Given the description of an element on the screen output the (x, y) to click on. 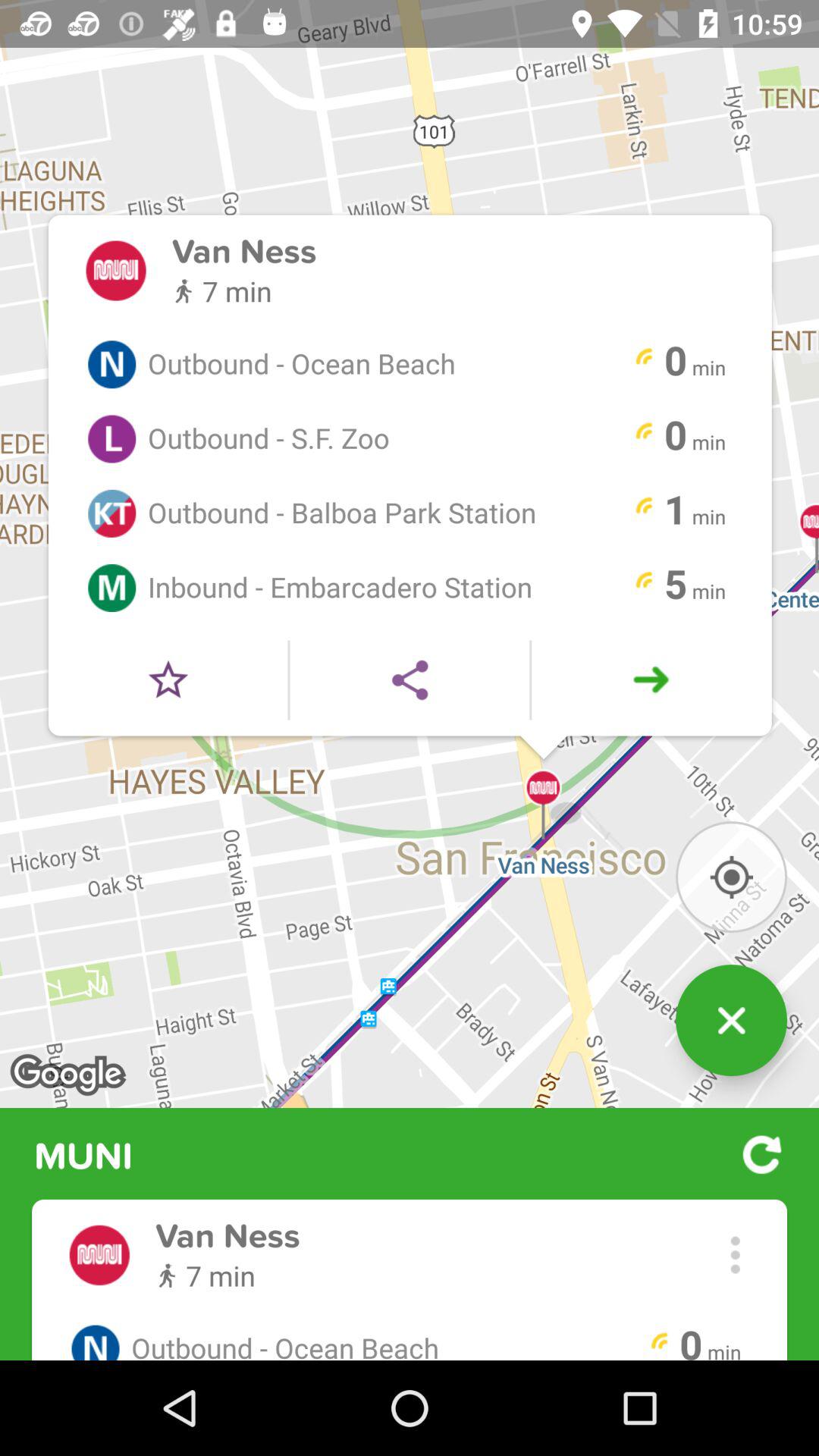
click on the button which is next to the muni (761, 1155)
select the yellow icon which next to the outbound  ocean beach (643, 358)
the circle with letter l inside it shown left to outbound  sf zoo (111, 438)
the yellow color icon left to 0 min at the bottom right corner of the page (659, 1342)
